Given the description of an element on the screen output the (x, y) to click on. 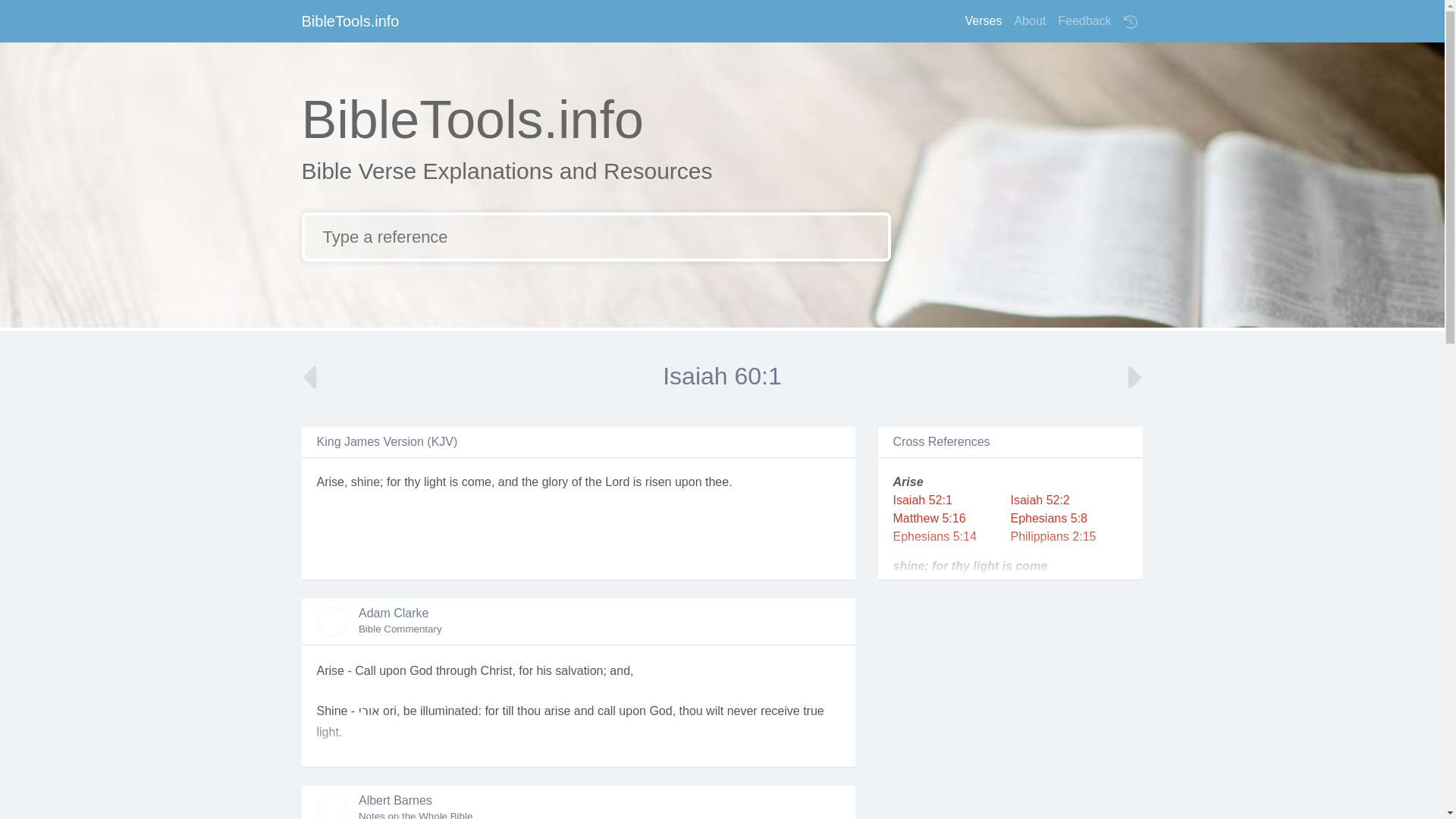
glory (555, 481)
thee. (718, 481)
is (637, 481)
thy (412, 481)
shine; (367, 481)
upon (688, 481)
Arise, (332, 481)
Lord (616, 481)
Previous Verse (316, 379)
come, (478, 481)
of (576, 481)
Verses (982, 20)
Feedback (1083, 20)
the (529, 481)
About (1029, 20)
